Given the description of an element on the screen output the (x, y) to click on. 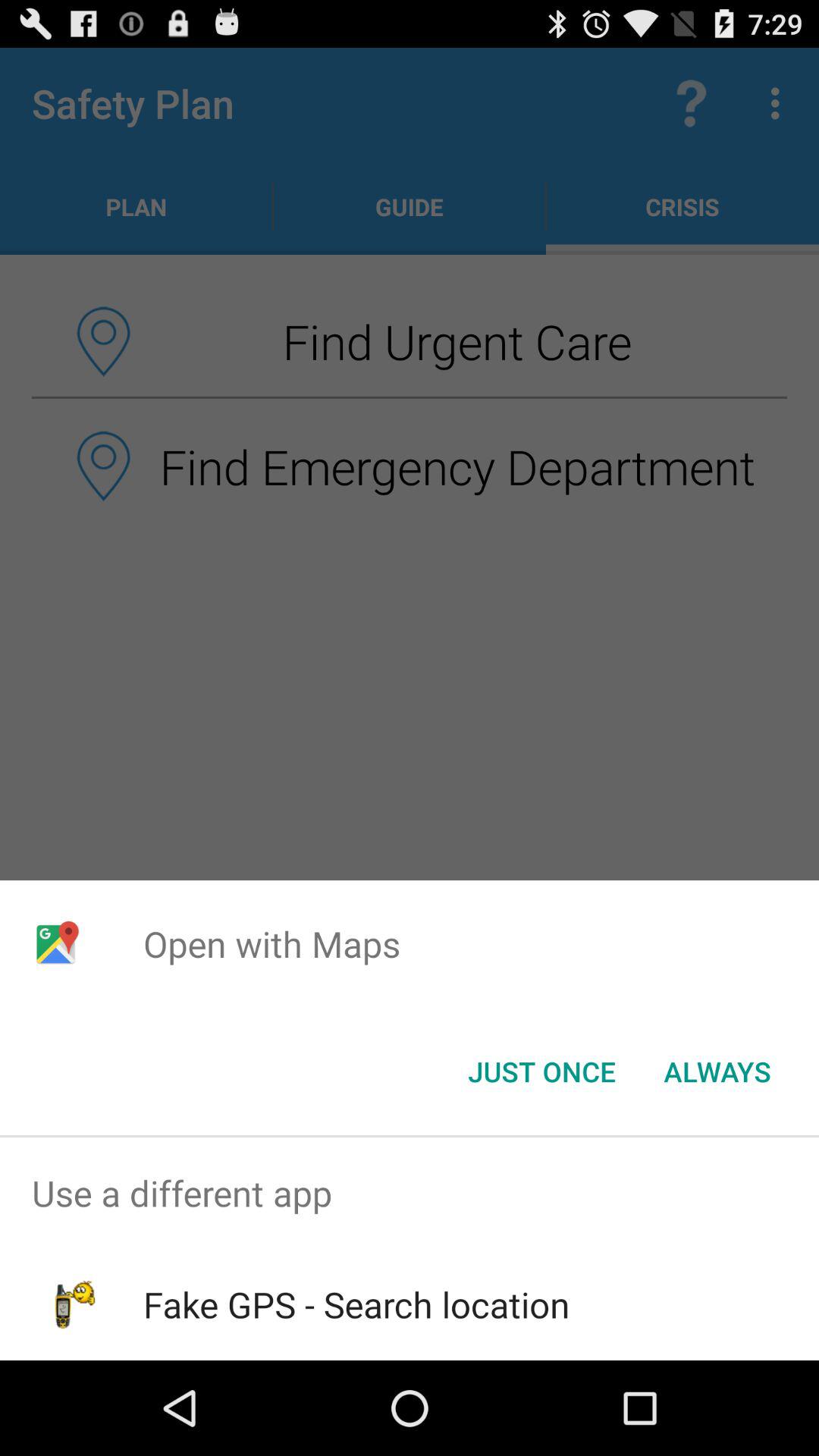
tap the icon at the bottom right corner (717, 1071)
